Given the description of an element on the screen output the (x, y) to click on. 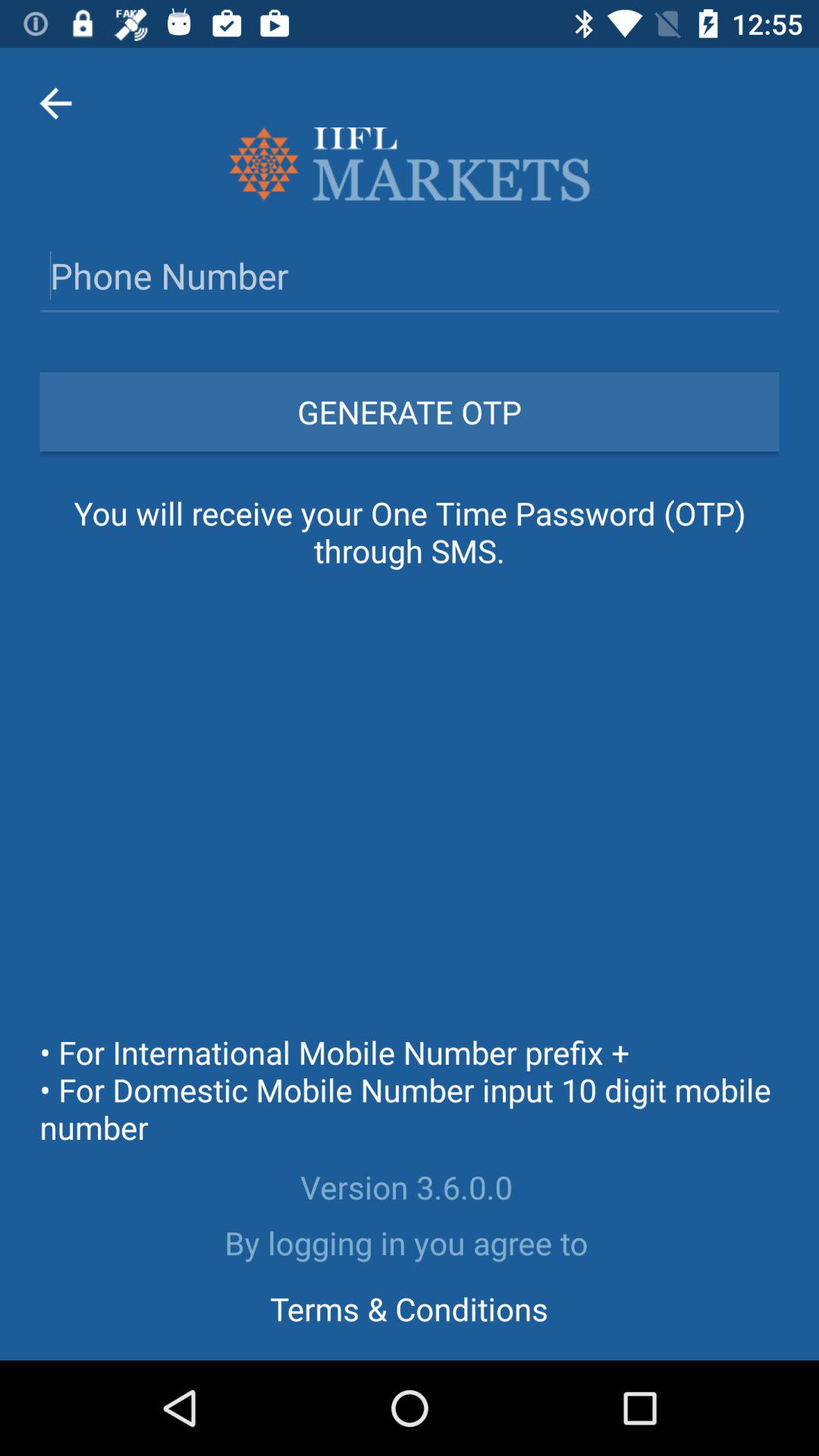
select the generate otp item (409, 411)
